Given the description of an element on the screen output the (x, y) to click on. 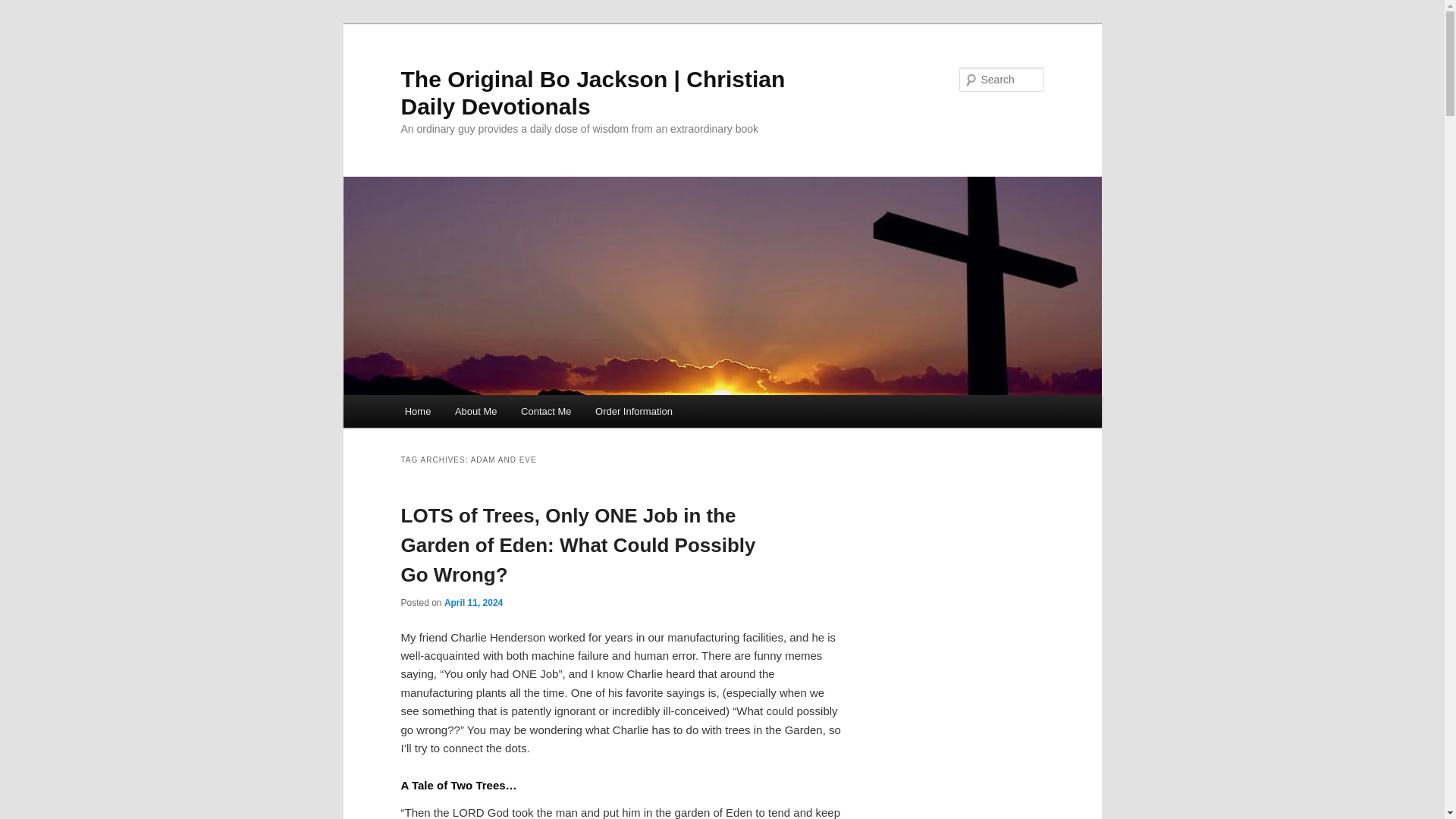
Contact Me (545, 410)
April 11, 2024 (473, 602)
About Me (475, 410)
6:00 am (473, 602)
Search (24, 8)
Home (417, 410)
Order Information (633, 410)
